Given the description of an element on the screen output the (x, y) to click on. 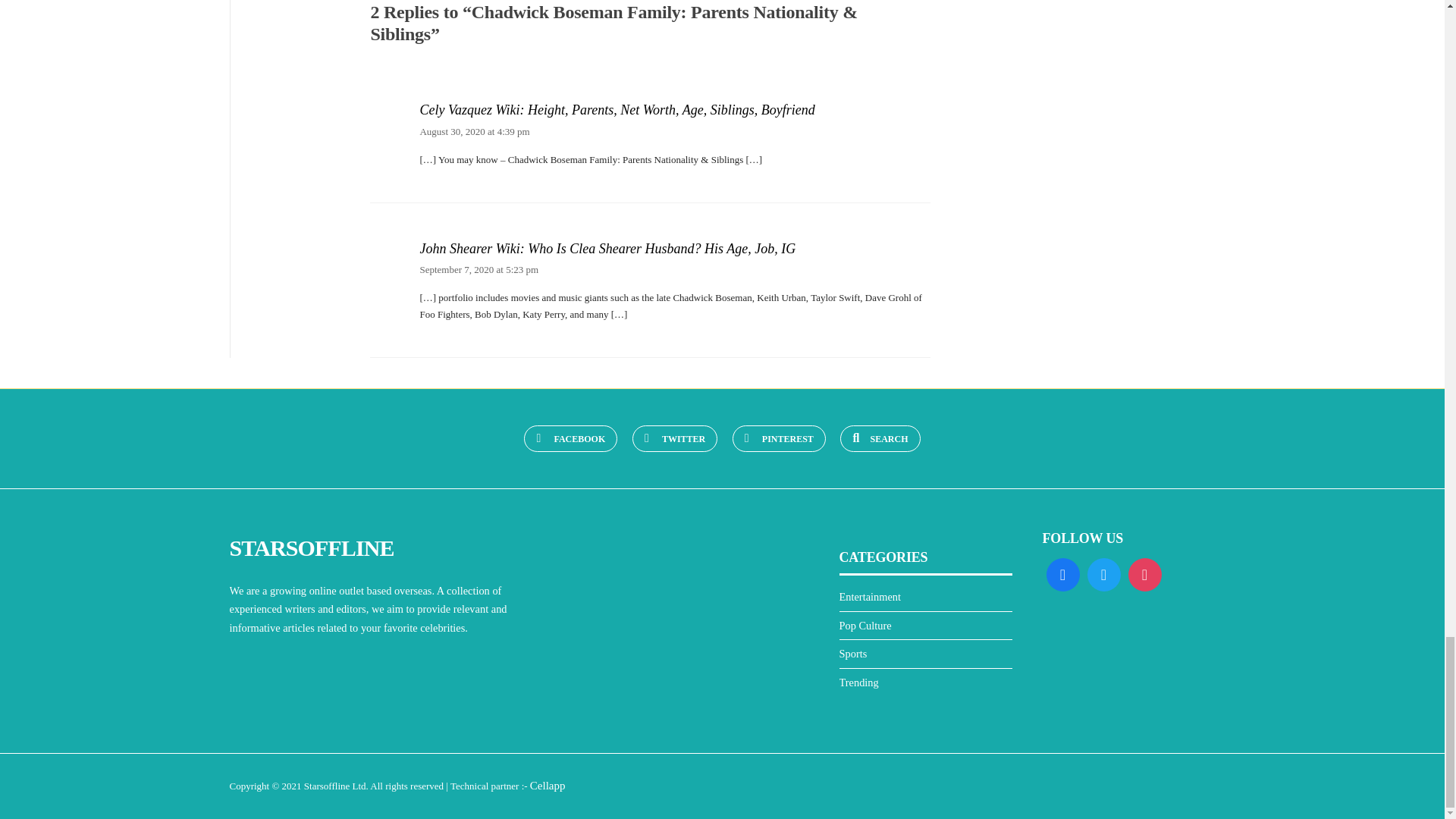
Entertainment (869, 596)
FACEBOOK (570, 438)
STARSOFFLINE (310, 547)
September 7, 2020 at 5:23 pm (478, 269)
PINTEREST (778, 438)
Pinterest (778, 438)
August 30, 2020 at 4:39 pm (474, 131)
TWITTER (674, 438)
SEARCH (880, 438)
